Given the description of an element on the screen output the (x, y) to click on. 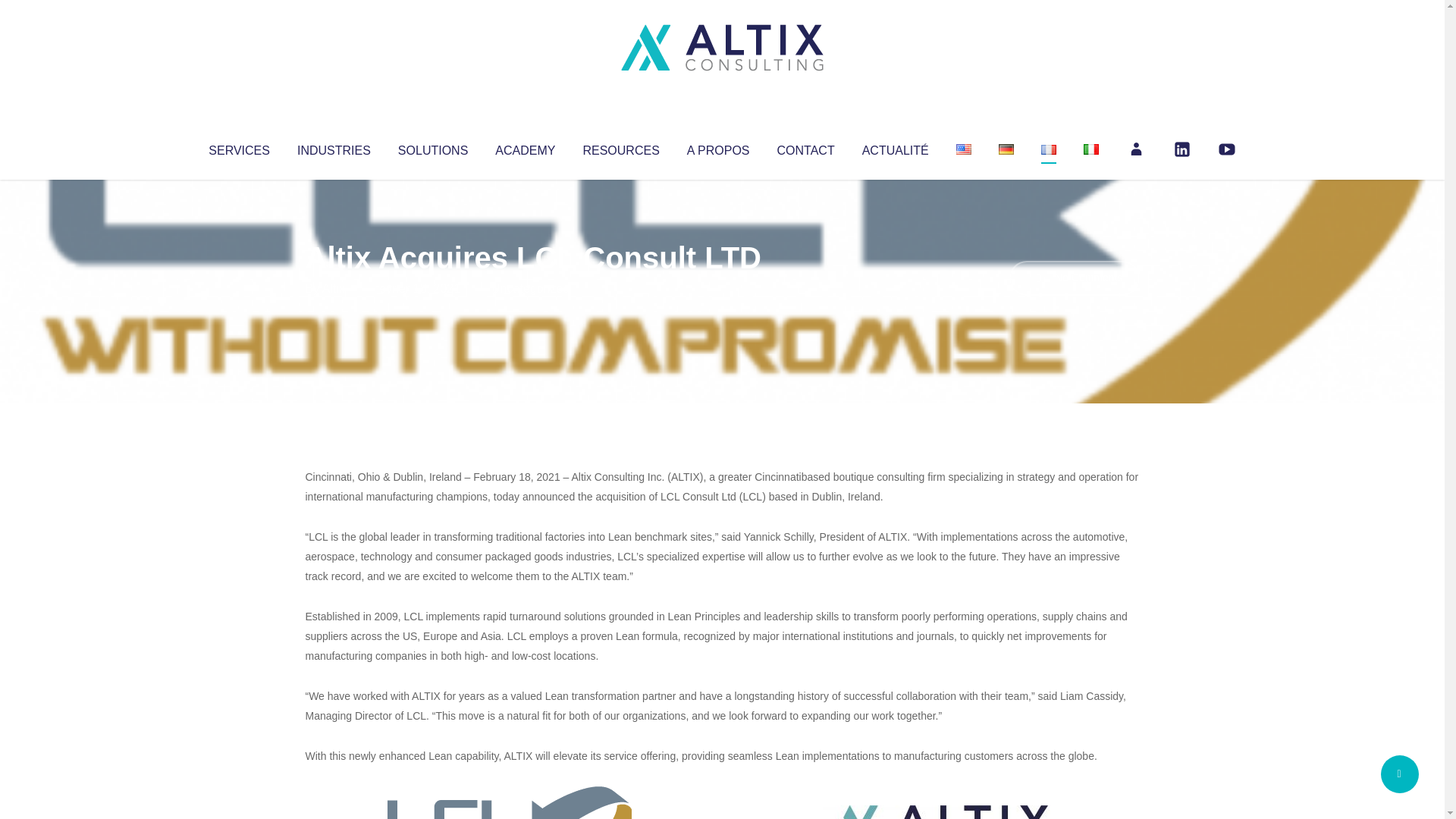
Uncategorized (530, 287)
SOLUTIONS (432, 146)
RESOURCES (620, 146)
SERVICES (238, 146)
Altix (333, 287)
Articles par Altix (333, 287)
A PROPOS (718, 146)
INDUSTRIES (334, 146)
No Comments (1073, 278)
ACADEMY (524, 146)
